Given the description of an element on the screen output the (x, y) to click on. 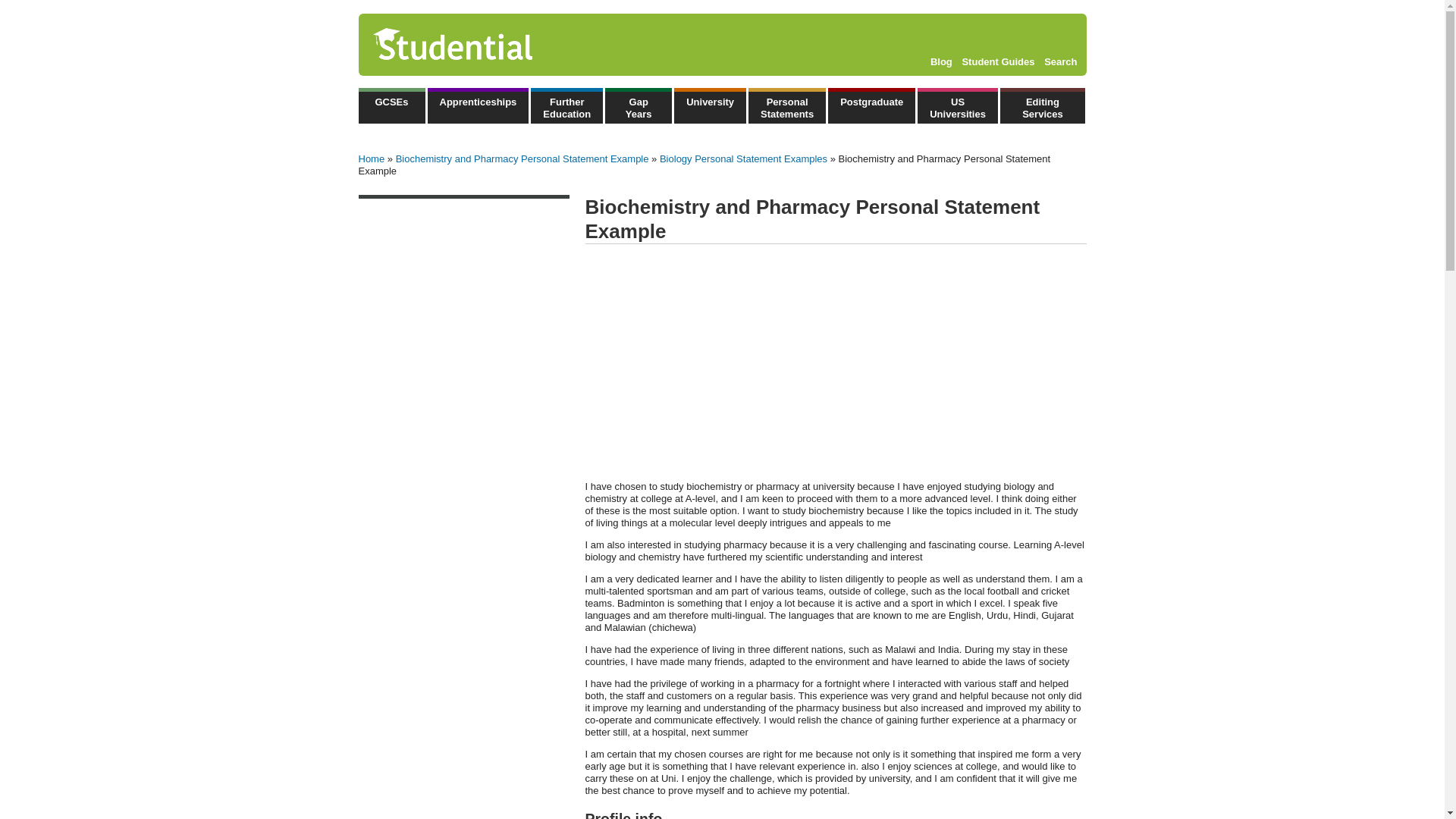
Apprenticeships (478, 105)
Postgraduate Options (871, 105)
Search (1060, 61)
Blog (941, 61)
Editing Services (1042, 105)
Gap Years (638, 105)
Further education (566, 105)
Studential.com (484, 44)
Apprenticeships (478, 105)
